Given the description of an element on the screen output the (x, y) to click on. 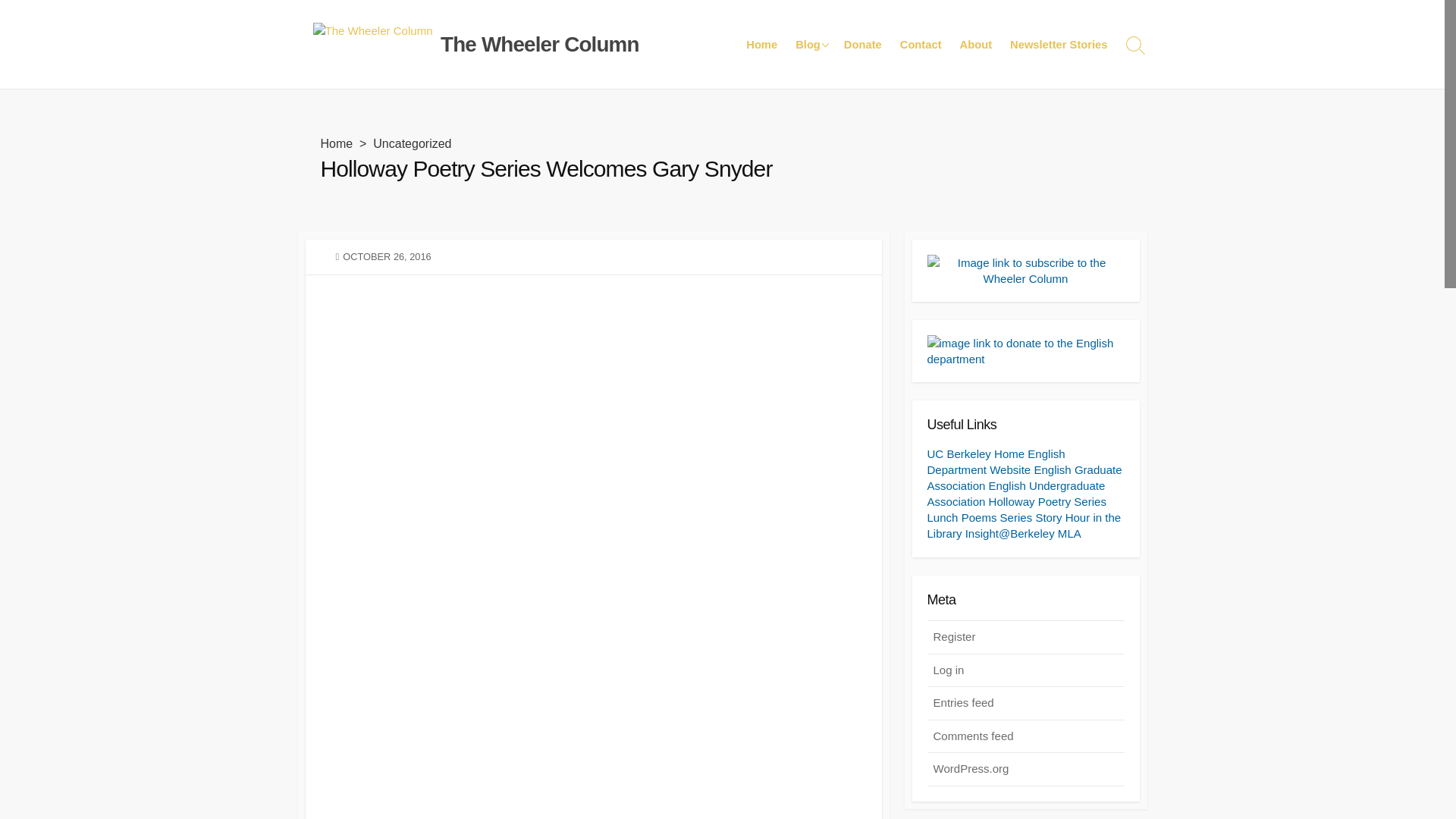
English Graduate Association (1023, 477)
The Wheeler Column (372, 44)
Register (1025, 636)
UC Berkeley Home (975, 453)
Comments feed (1025, 736)
Alumni Stories (861, 126)
Uncategorized (411, 143)
Log in (1025, 670)
English Undergraduate Association (1015, 493)
MLA (1069, 533)
Contact (920, 44)
Home (336, 143)
The Wheeler Column (540, 43)
Event Recaps (861, 44)
General (861, 72)
